Given the description of an element on the screen output the (x, y) to click on. 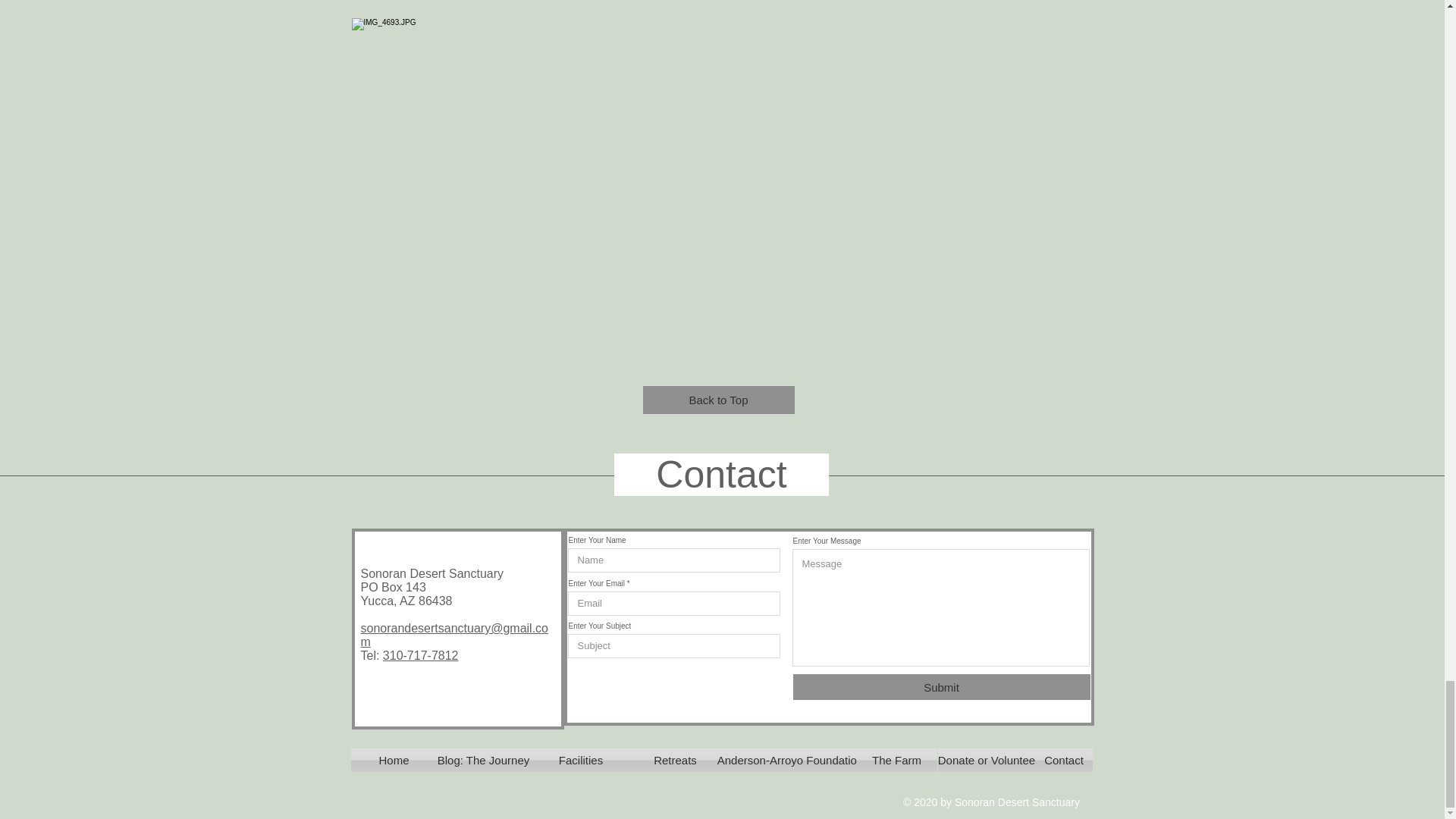
Submit (941, 687)
Donate or Volunteer (988, 760)
310-717-7812 (420, 655)
Facilities (580, 760)
Retreats (675, 760)
Blog: The Journey (482, 760)
Home (393, 760)
Anderson-Arroyo Foundation (790, 760)
The Farm (897, 760)
Back to Top (718, 399)
